Given the description of an element on the screen output the (x, y) to click on. 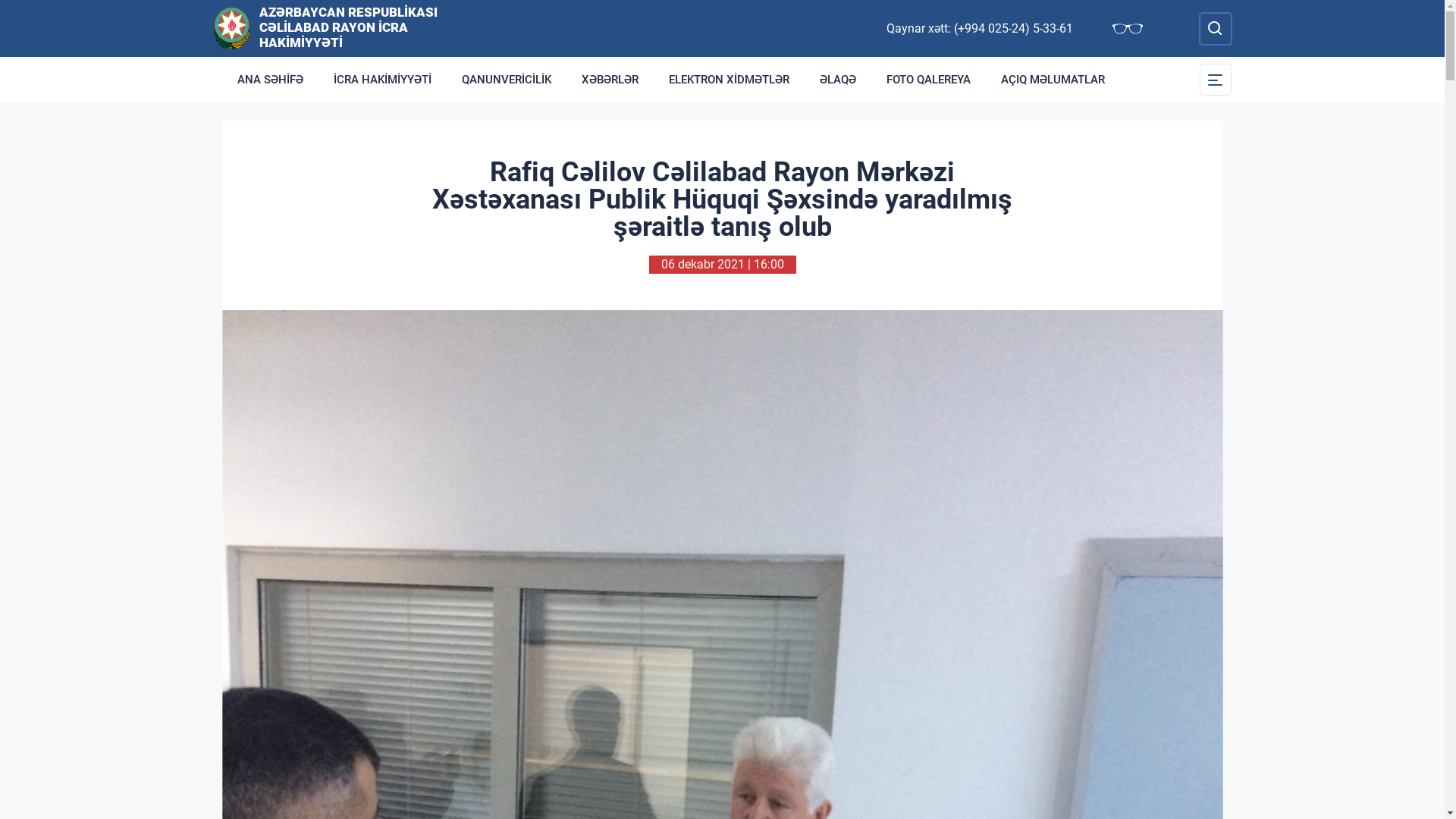
FOTO QALEREYA Element type: text (927, 79)
QANUNVERICILIK Element type: text (505, 79)
